Given the description of an element on the screen output the (x, y) to click on. 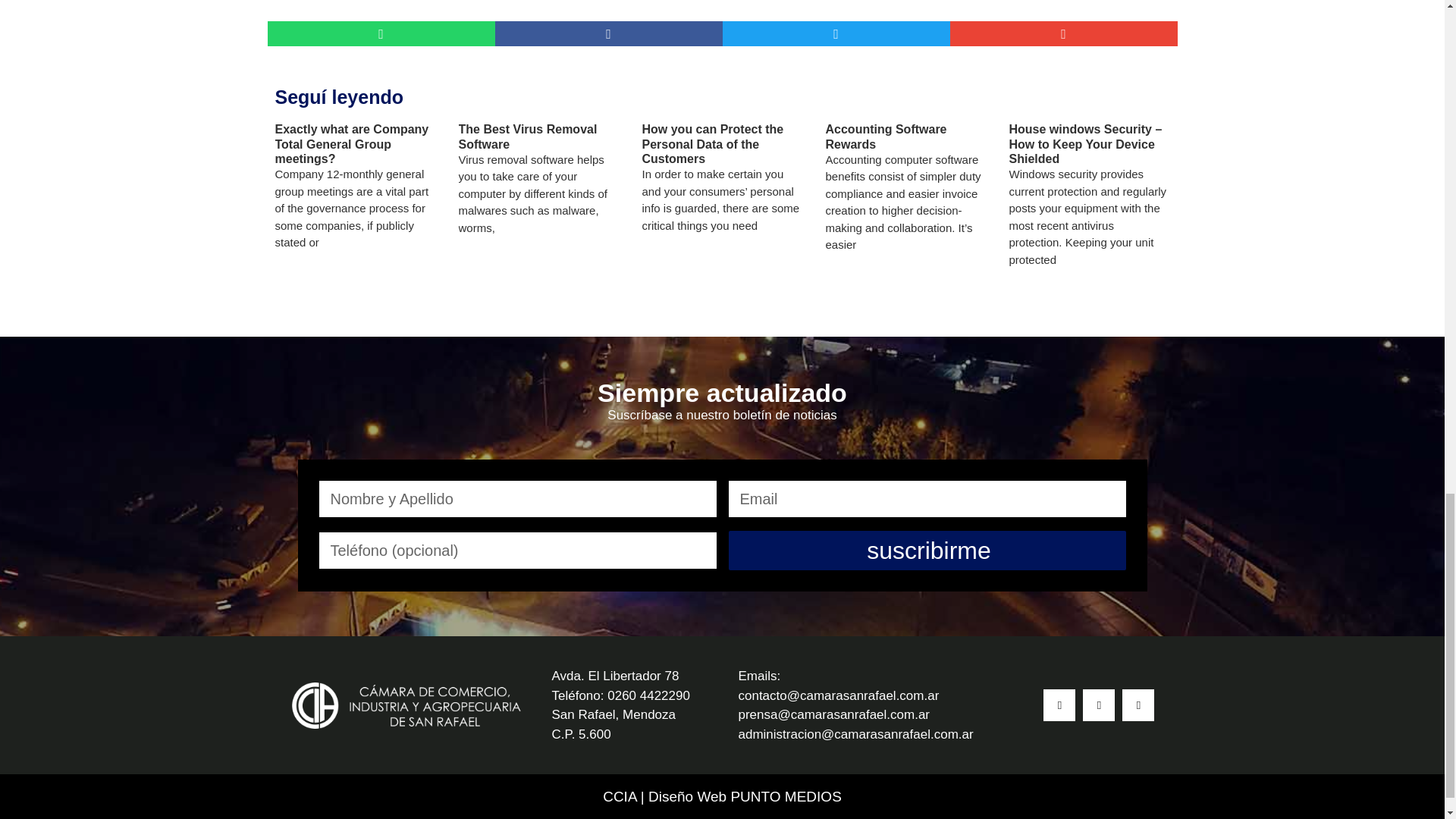
Exactly what are Company Total General Group meetings? (351, 143)
The Best Virus Removal Software (527, 135)
suscribirme (926, 550)
How you can Protect the Personal Data of the Customers (712, 143)
Accounting Software Rewards (885, 135)
